Given the description of an element on the screen output the (x, y) to click on. 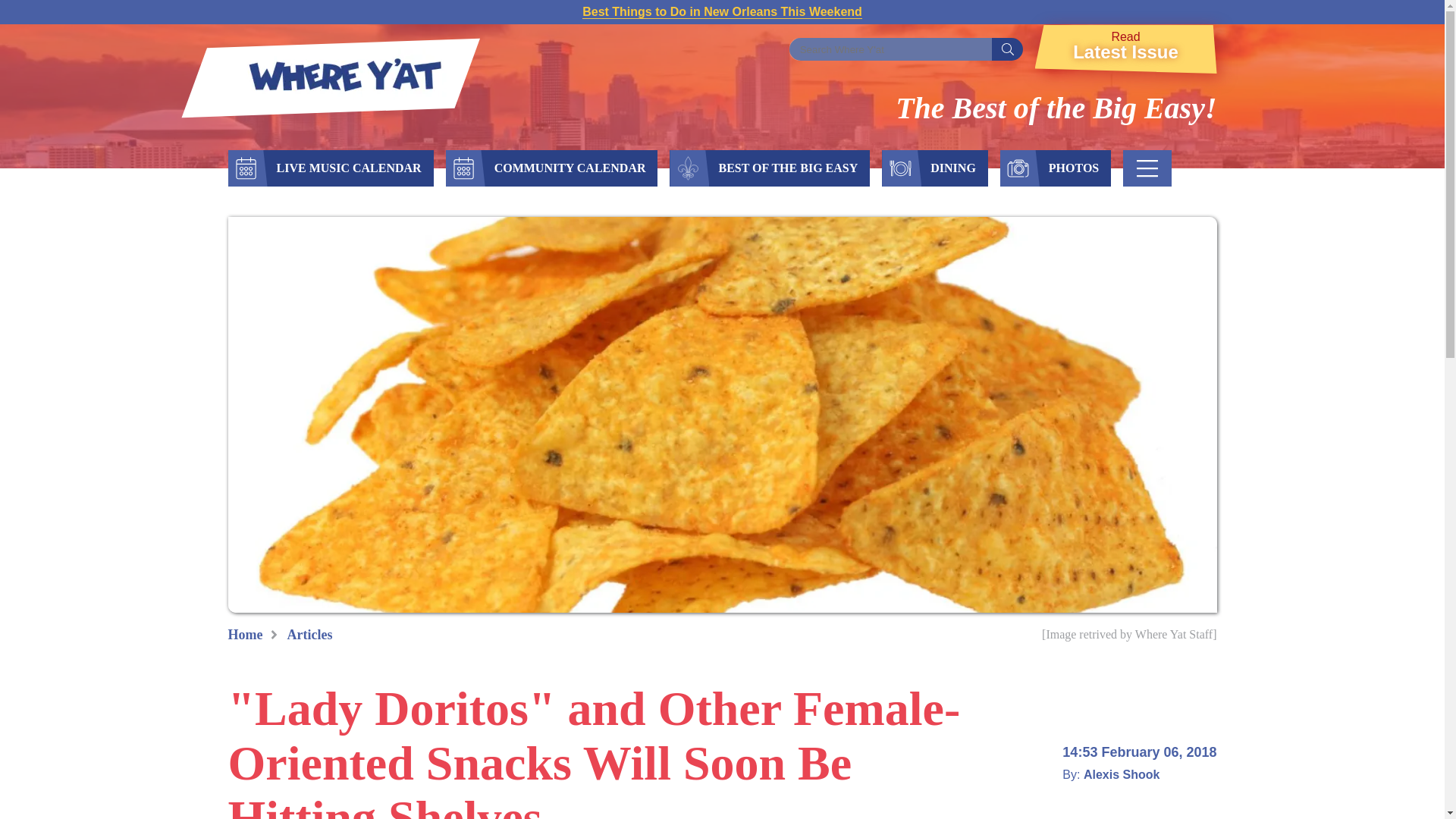
COMMUNITY CALENDAR (569, 167)
Best Things to Do in New Orleans This Weekend (721, 11)
LIVE MUSIC CALENDAR (1124, 49)
